Given the description of an element on the screen output the (x, y) to click on. 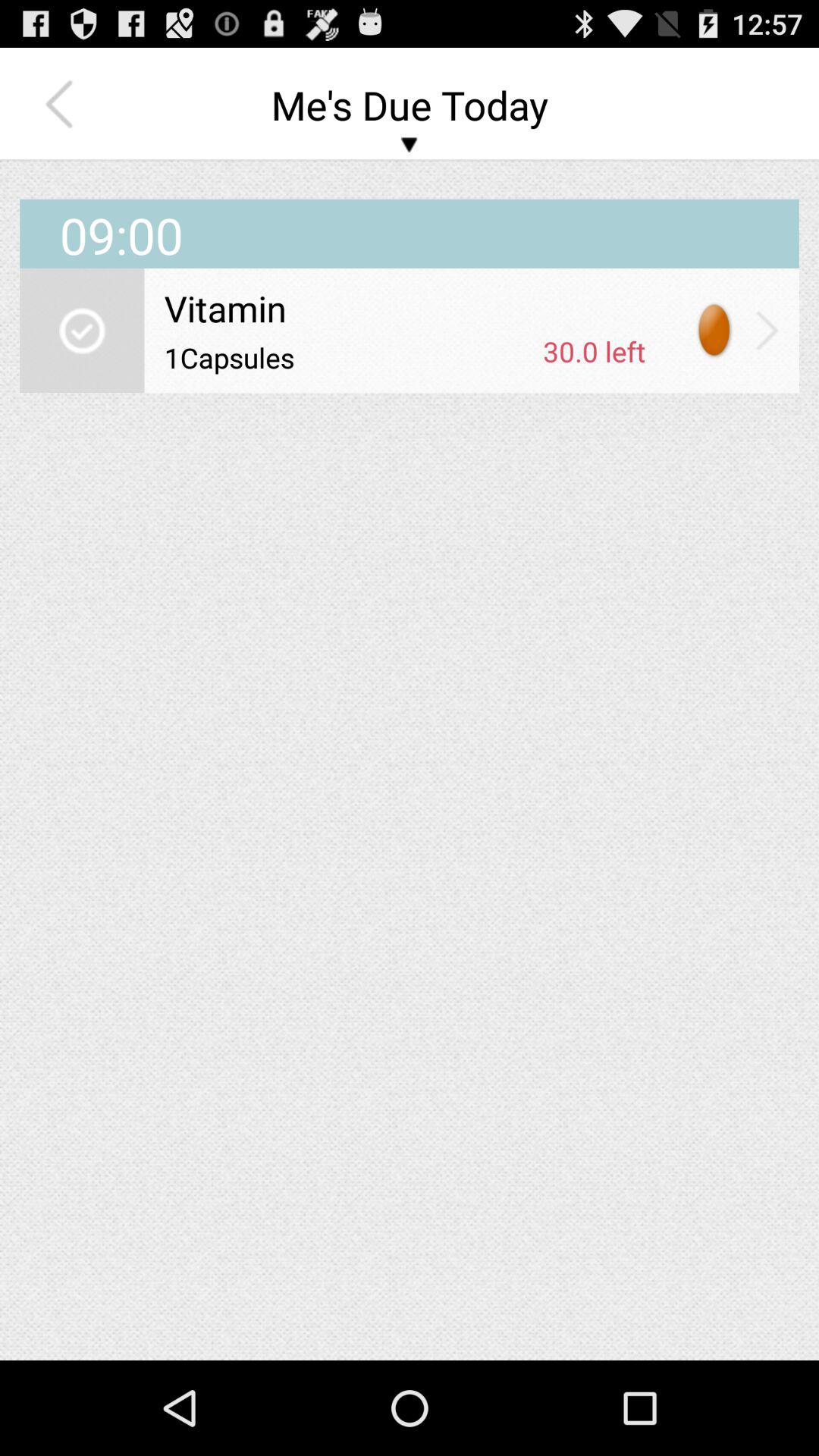
open icon below vitamin icon (594, 351)
